Given the description of an element on the screen output the (x, y) to click on. 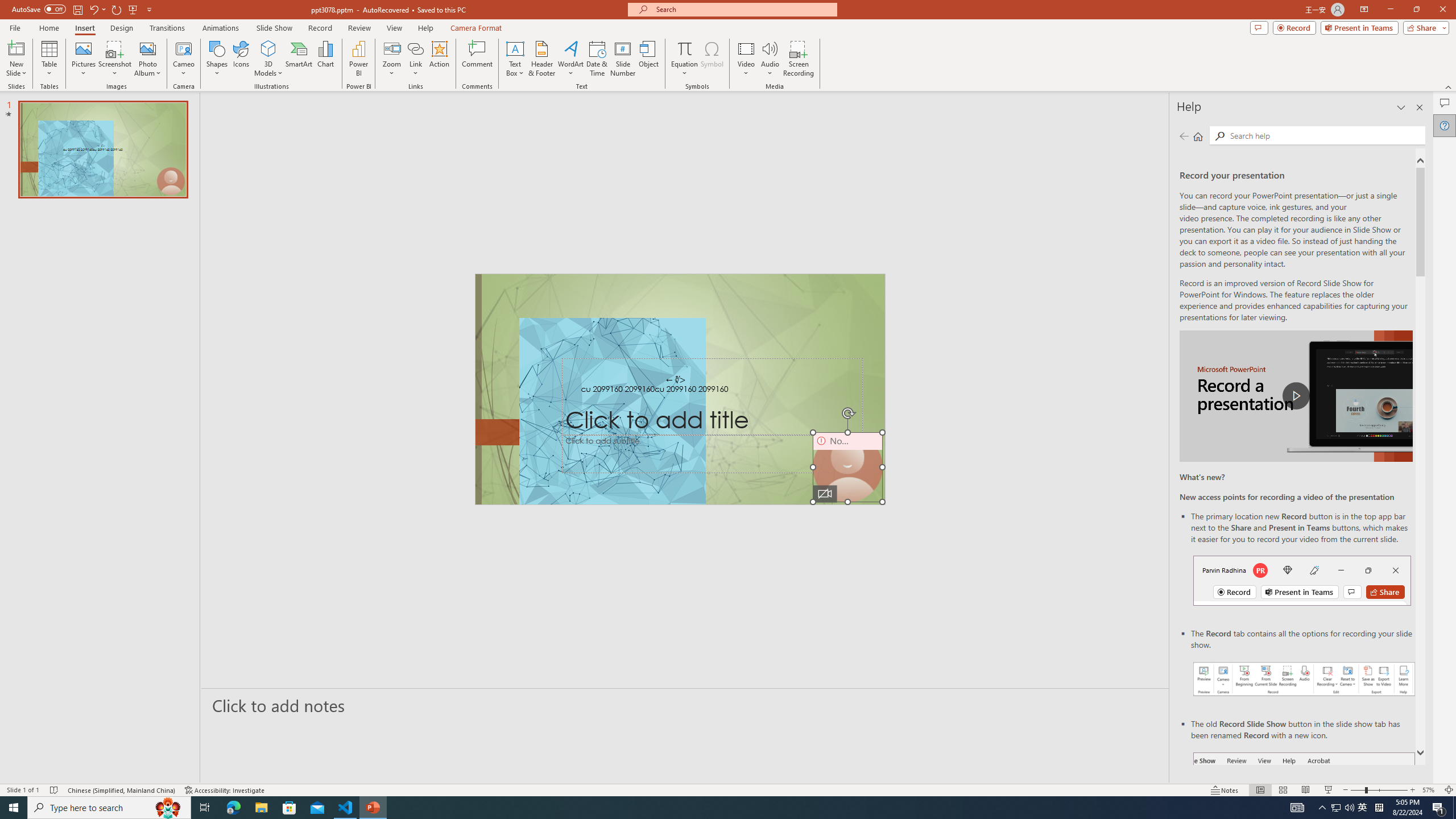
Camera 9, No camera detected. (846, 466)
Equation (683, 58)
Video (745, 58)
Record your presentations screenshot one (1304, 678)
Shapes (216, 58)
